Given the description of an element on the screen output the (x, y) to click on. 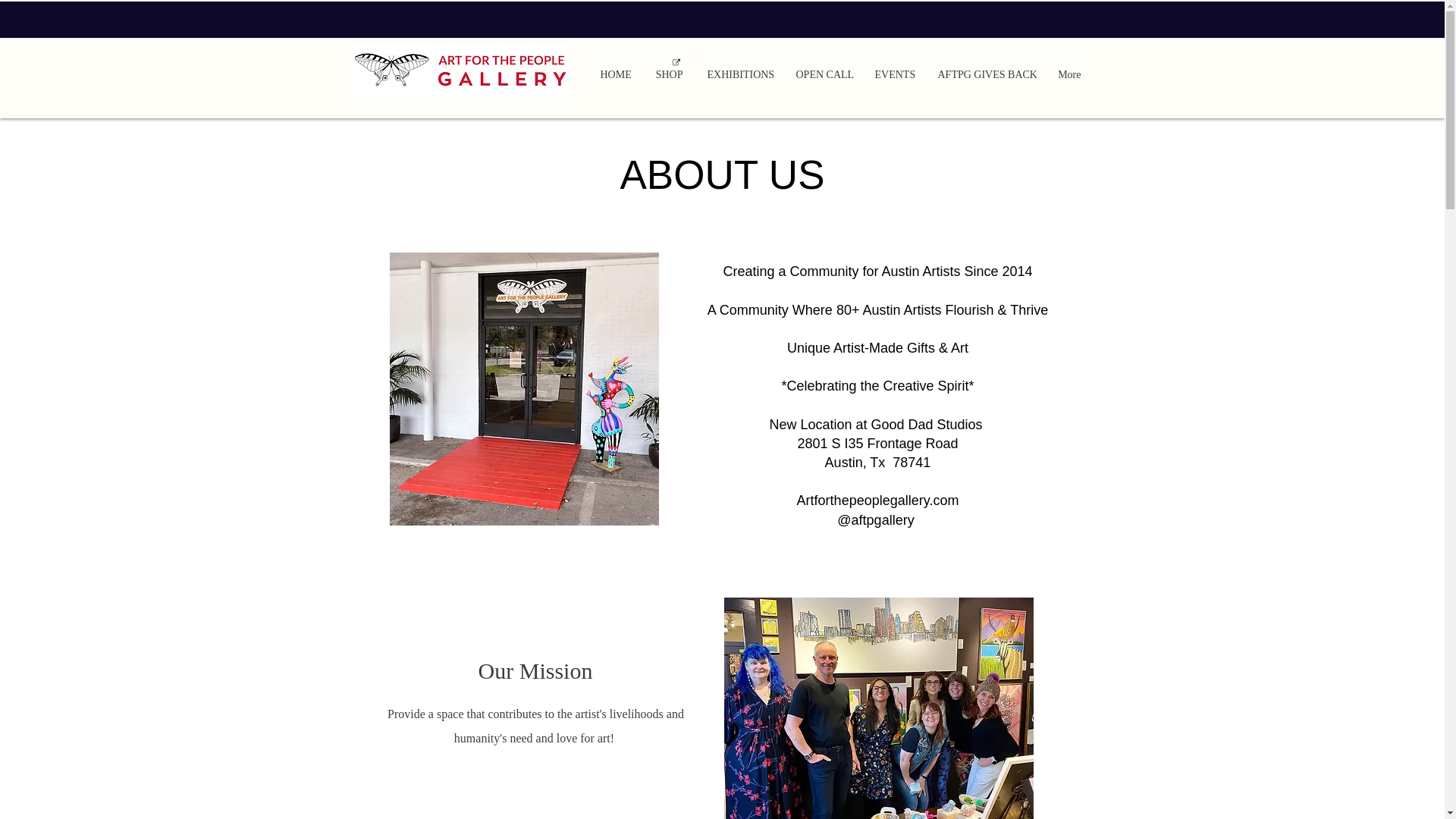
EVENTS (894, 68)
HOME (615, 68)
SHOP (669, 68)
EXHIBITIONS (738, 68)
OPEN CALL (823, 68)
AFTPG GIVES BACK (983, 68)
